Given the description of an element on the screen output the (x, y) to click on. 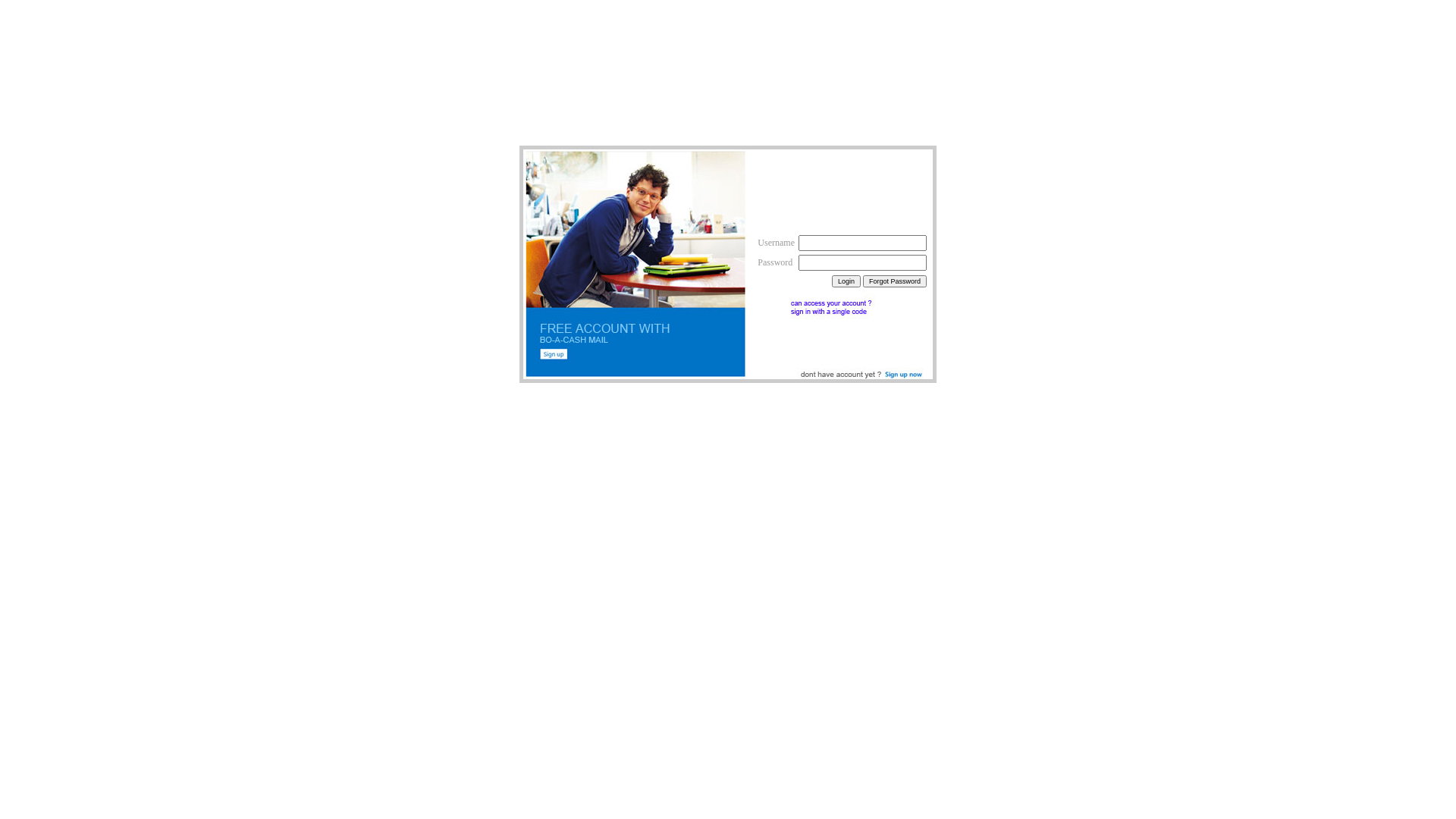
Forgot Password Element type: text (894, 281)
Login Element type: text (845, 281)
